Given the description of an element on the screen output the (x, y) to click on. 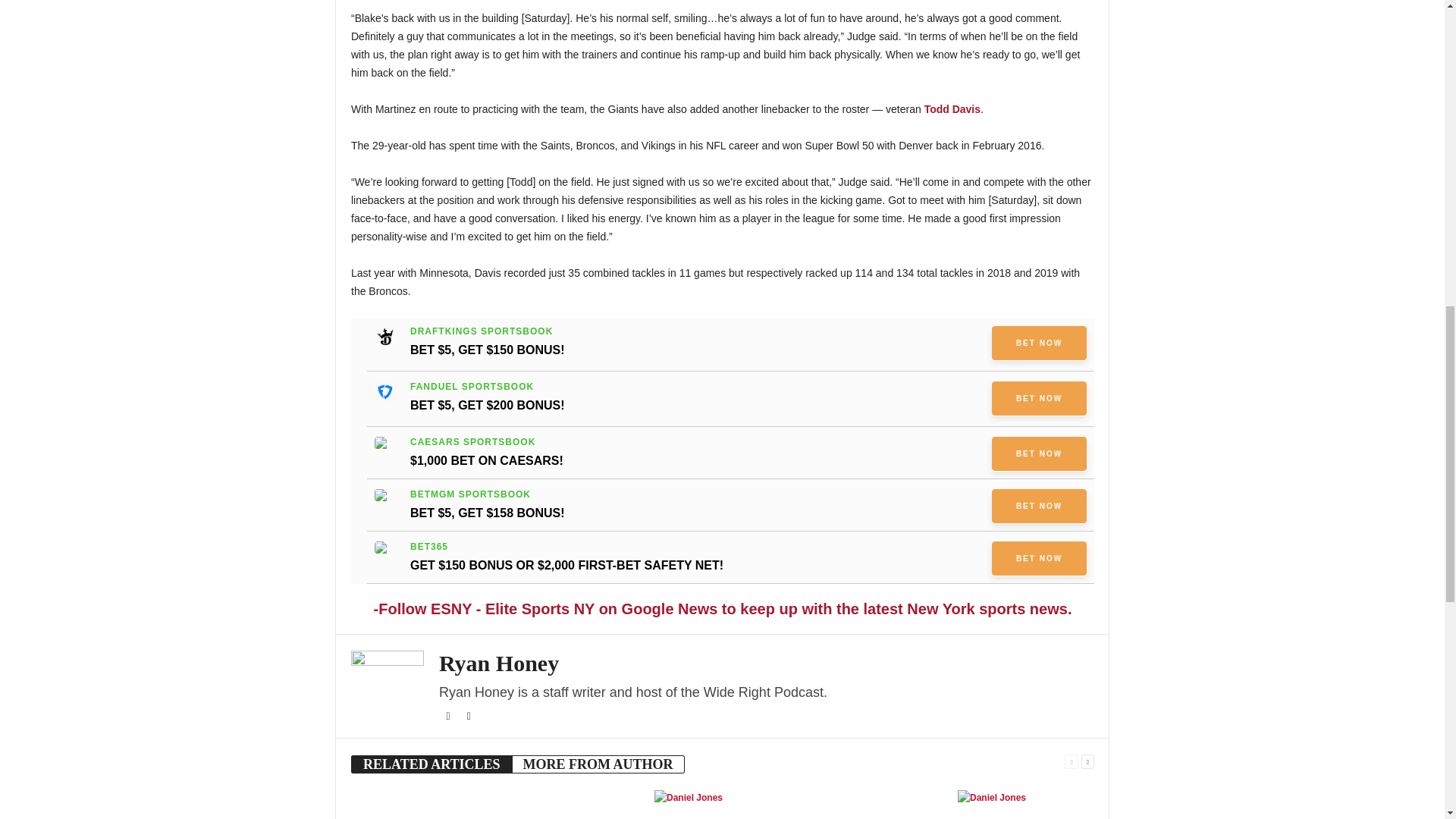
Linkedin (468, 716)
Twitter (449, 716)
ESNY celebrates Festivus, New York Sports Edition (570, 804)
